Given the description of an element on the screen output the (x, y) to click on. 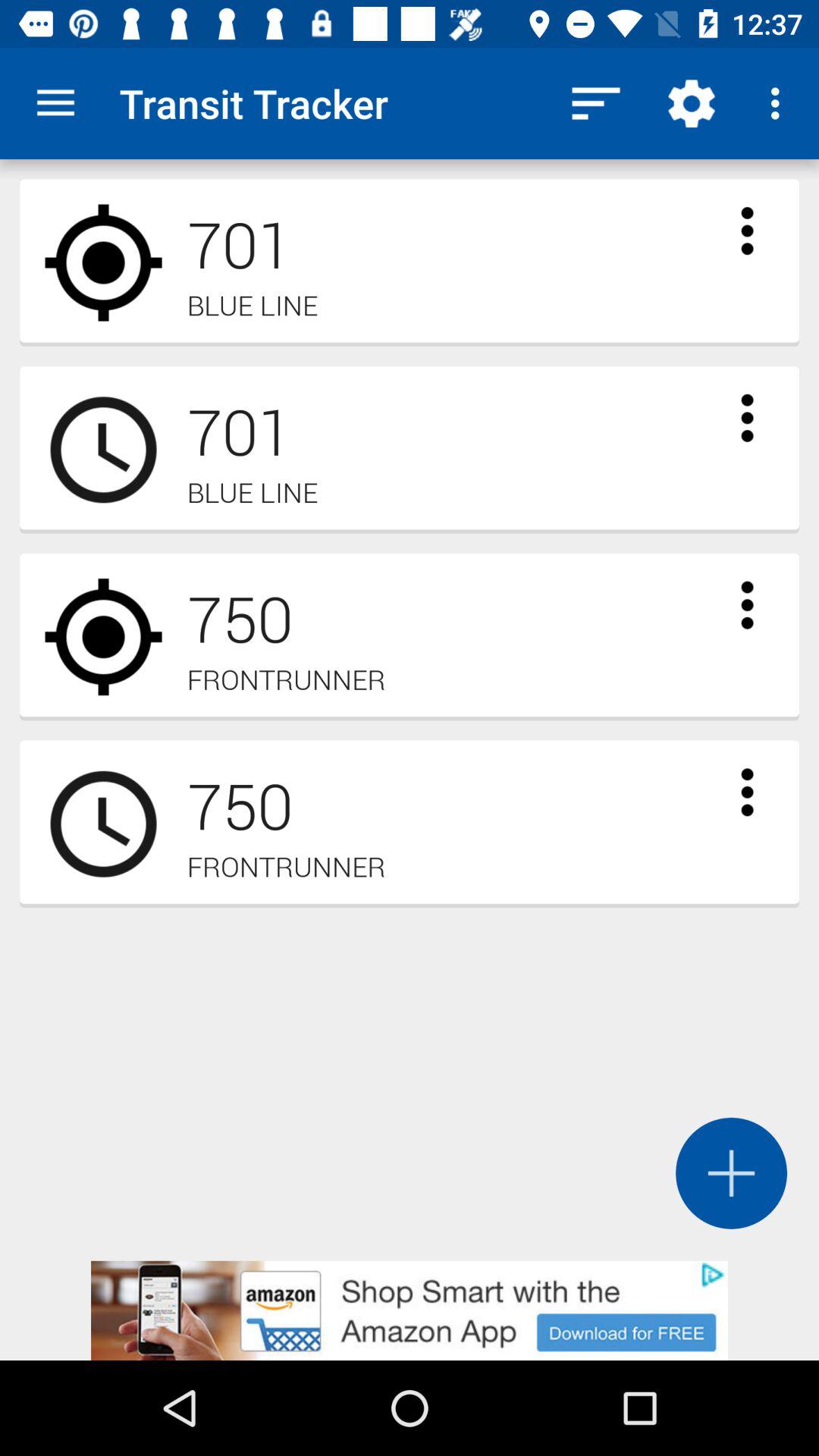
view more options (747, 230)
